Given the description of an element on the screen output the (x, y) to click on. 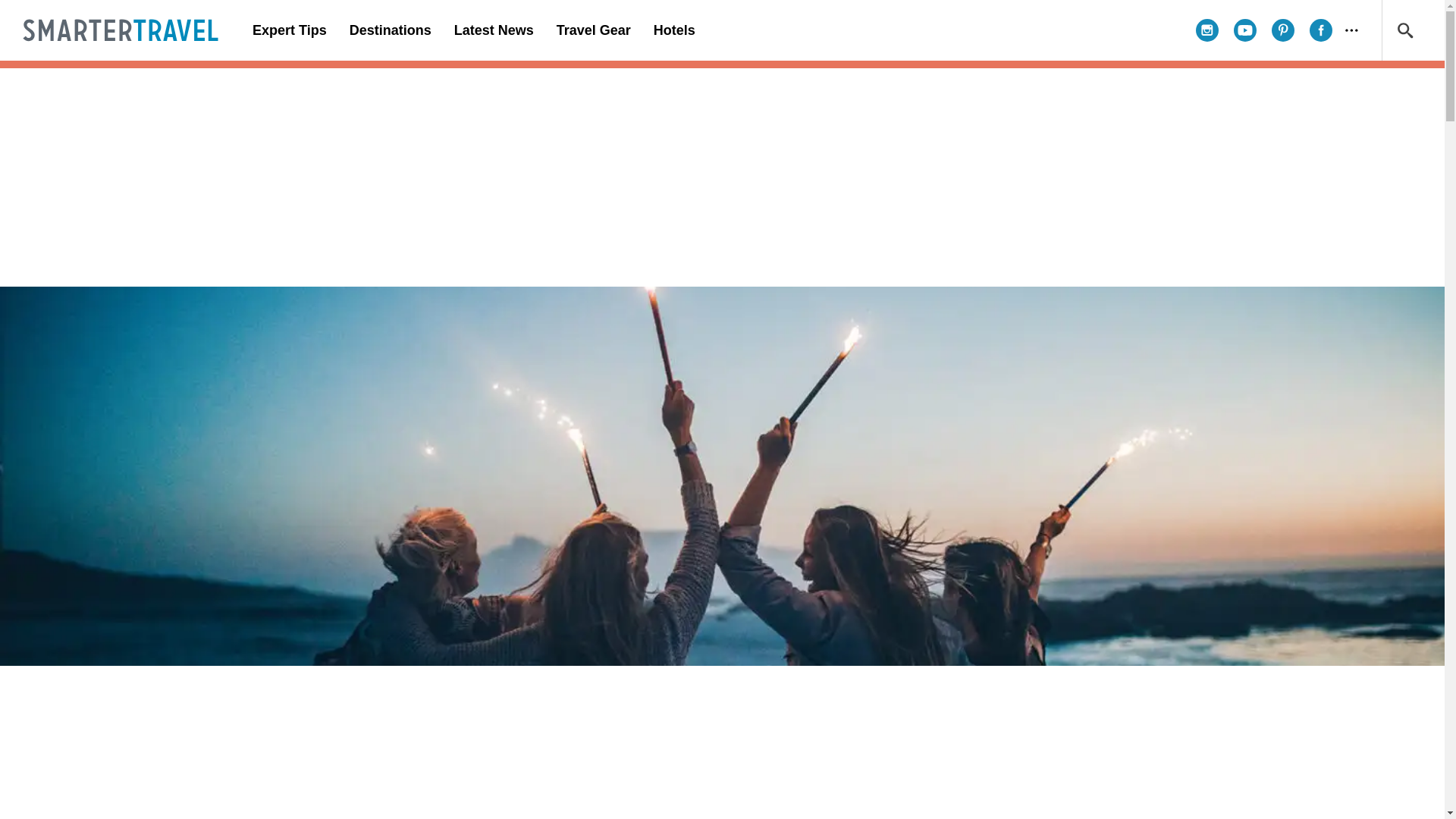
Destinations (389, 30)
Hotels (674, 30)
Expert Tips (289, 30)
Travel Gear (593, 30)
Latest News (493, 30)
